Given the description of an element on the screen output the (x, y) to click on. 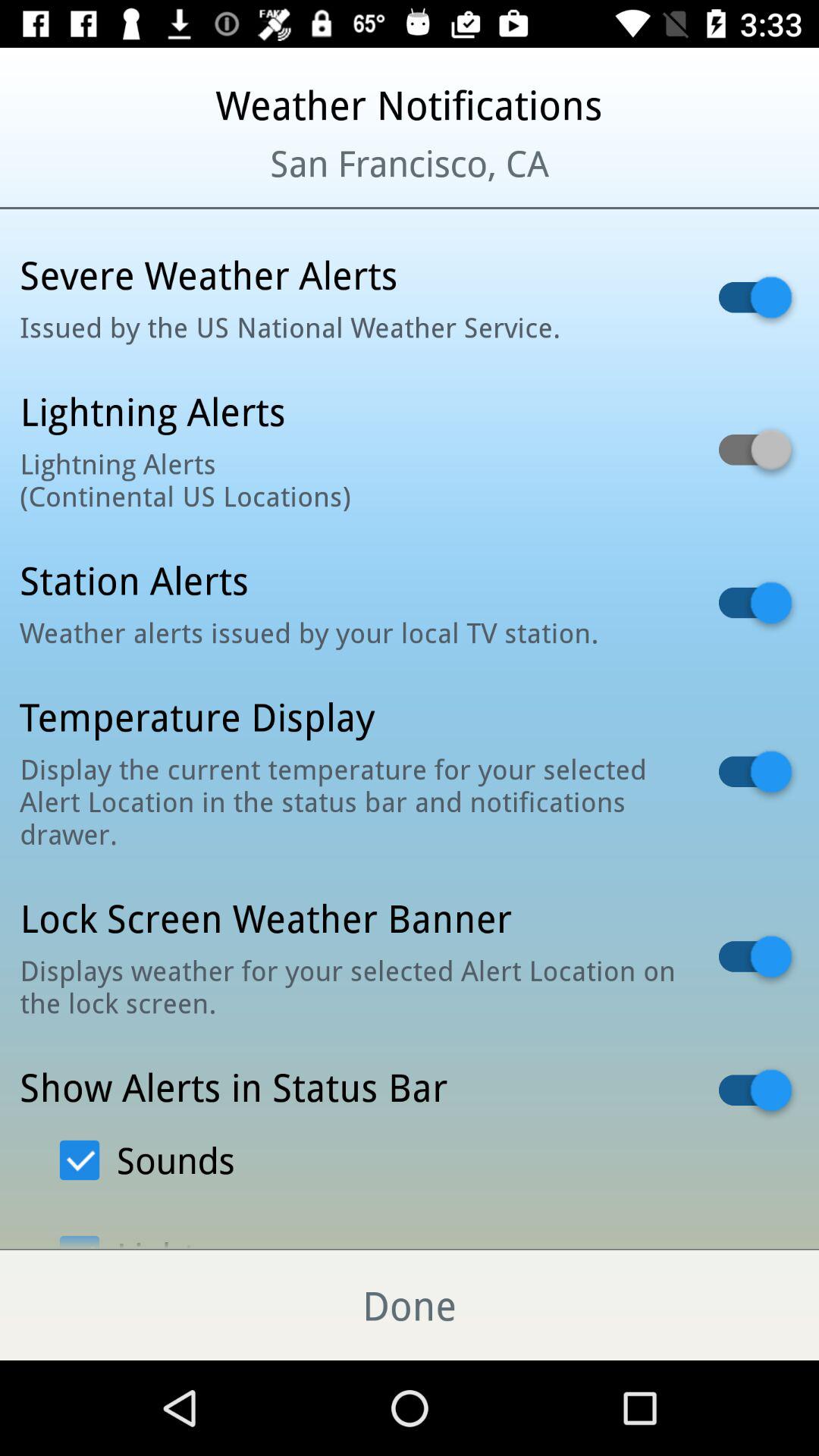
open item to the left of the san francisco, ca (99, 182)
